Given the description of an element on the screen output the (x, y) to click on. 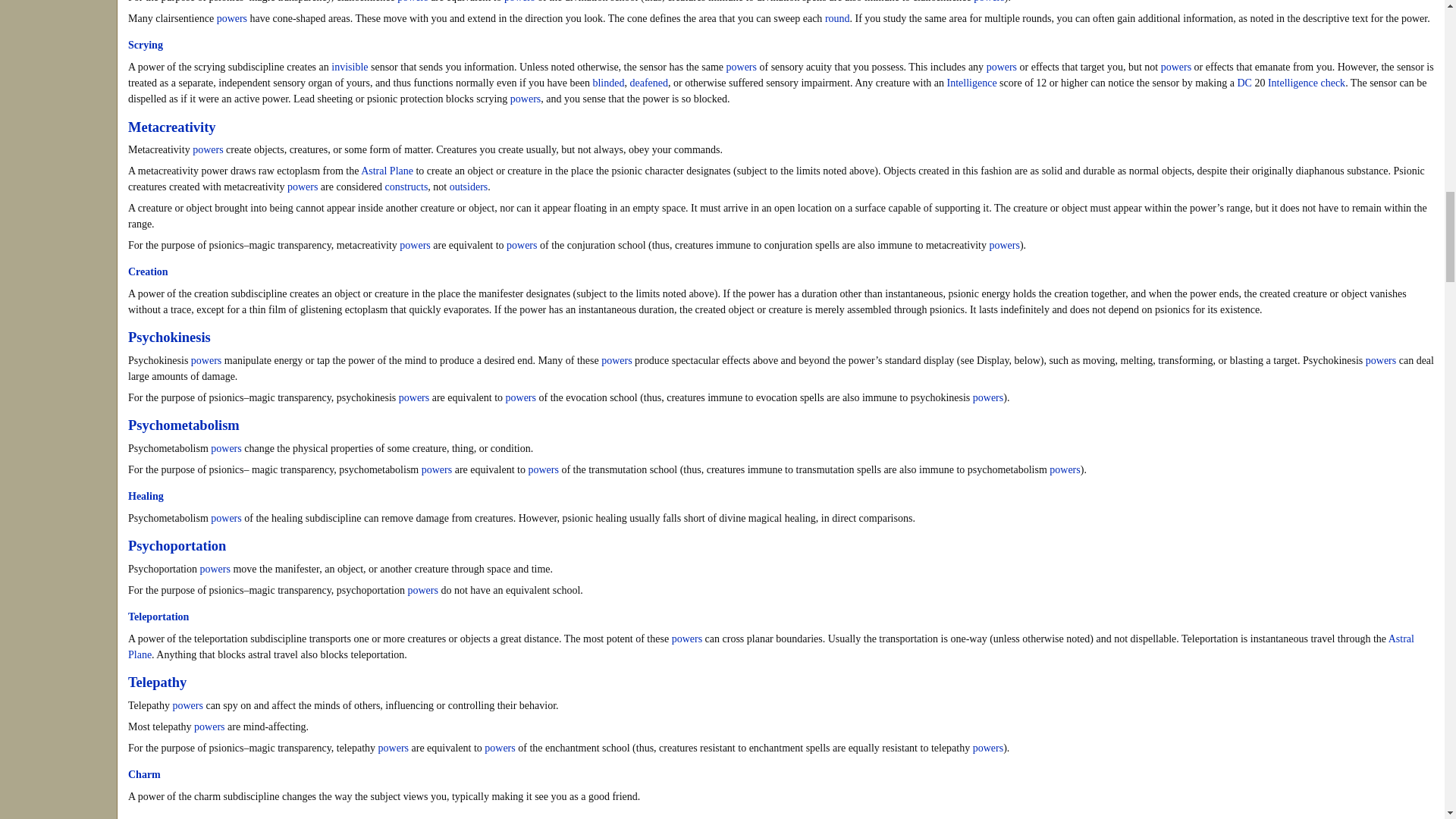
SRD:Blinded (608, 82)
SRD:Invisible (349, 66)
SRD:Deafened (648, 82)
SRD:Powers (231, 18)
SRD:Powers (518, 1)
SRD:Powers (989, 1)
SRD:Round (837, 18)
SRD:Powers (412, 1)
SRD:Powers (1175, 66)
SRD:Scrying Subdiscipline (145, 44)
